Given the description of an element on the screen output the (x, y) to click on. 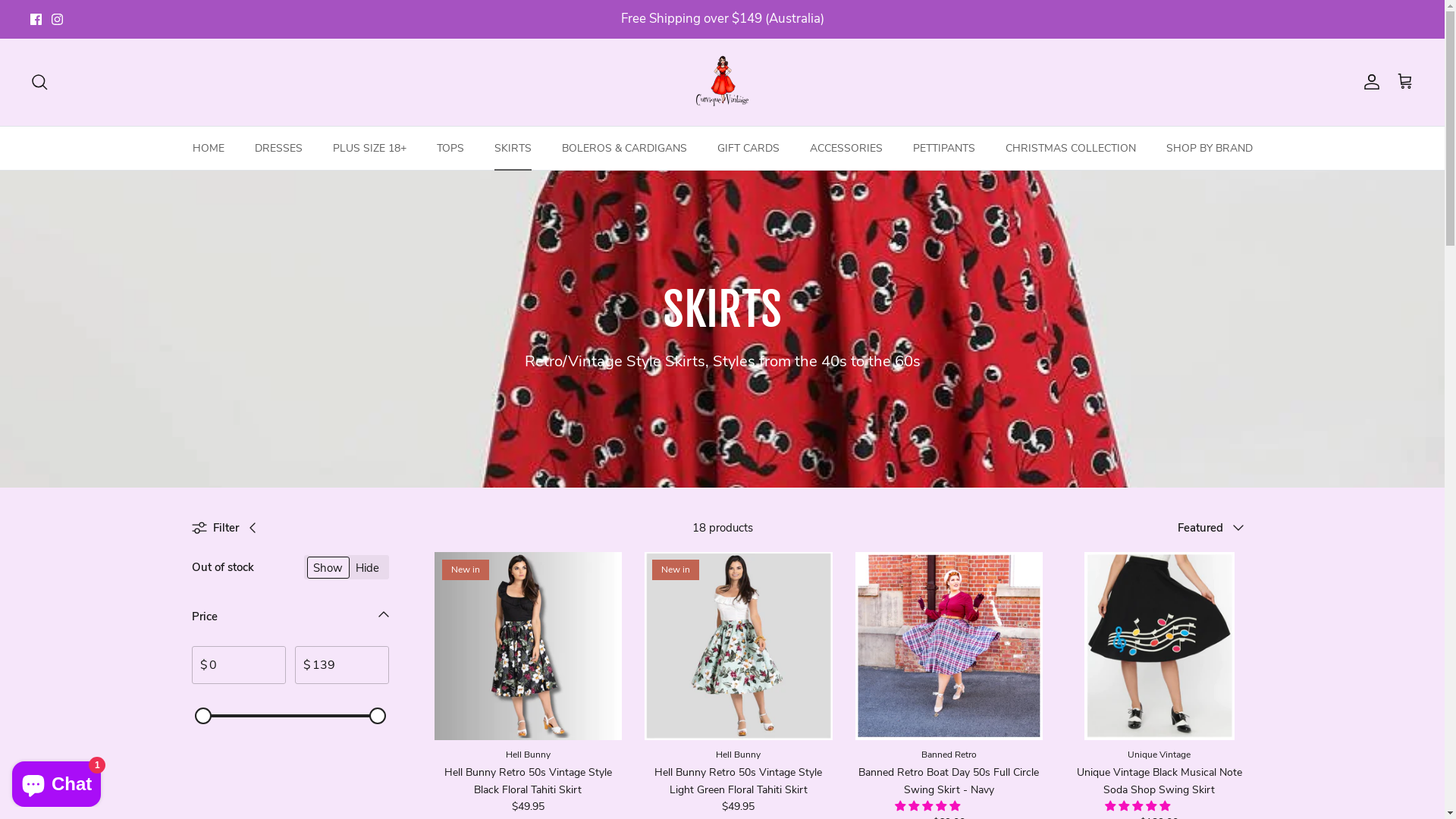
PLUS SIZE 18+ Element type: text (368, 147)
GIFT CARDS Element type: text (748, 147)
TOPS Element type: text (450, 147)
ACCESSORIES Element type: text (846, 147)
BOLEROS & CARDIGANS Element type: text (623, 147)
Curvique Vintage Element type: hover (721, 81)
HOME Element type: text (208, 147)
Search Element type: text (39, 81)
New in Element type: text (527, 646)
Account Element type: text (1368, 81)
Featured Element type: text (1214, 527)
SKIRTS Element type: text (512, 147)
Price
Down Element type: text (289, 621)
Shopify online store chat Element type: hover (56, 780)
PETTIPANTS Element type: text (943, 147)
SHOP BY BRAND Element type: text (1209, 147)
DRESSES Element type: text (278, 147)
Facebook Element type: text (35, 19)
Instagram Element type: text (56, 19)
Cart Element type: text (1405, 81)
New in Element type: text (738, 646)
Filter Element type: text (228, 527)
CHRISTMAS COLLECTION Element type: text (1070, 147)
